Given the description of an element on the screen output the (x, y) to click on. 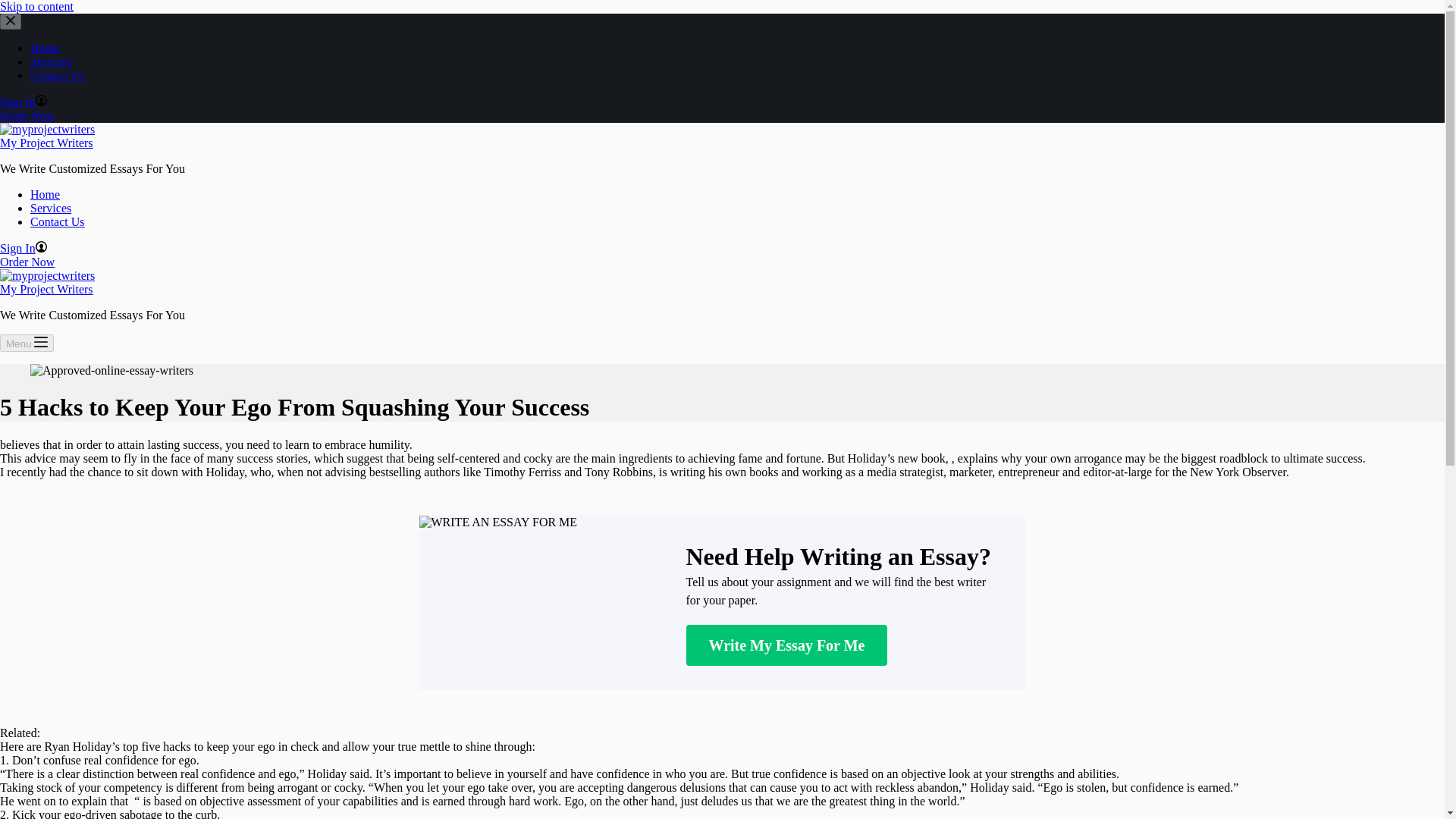
Order Now (27, 261)
My Project Writers (46, 142)
Home (44, 194)
Skip to content (37, 6)
Contact Us (57, 221)
Contact Us (57, 74)
My Project Writers (46, 288)
Services (50, 61)
Sign In (23, 247)
Write My Essay For Me (785, 644)
Home (44, 47)
Menu (26, 343)
Order Now (27, 115)
Services (50, 207)
Sign In (23, 101)
